Given the description of an element on the screen output the (x, y) to click on. 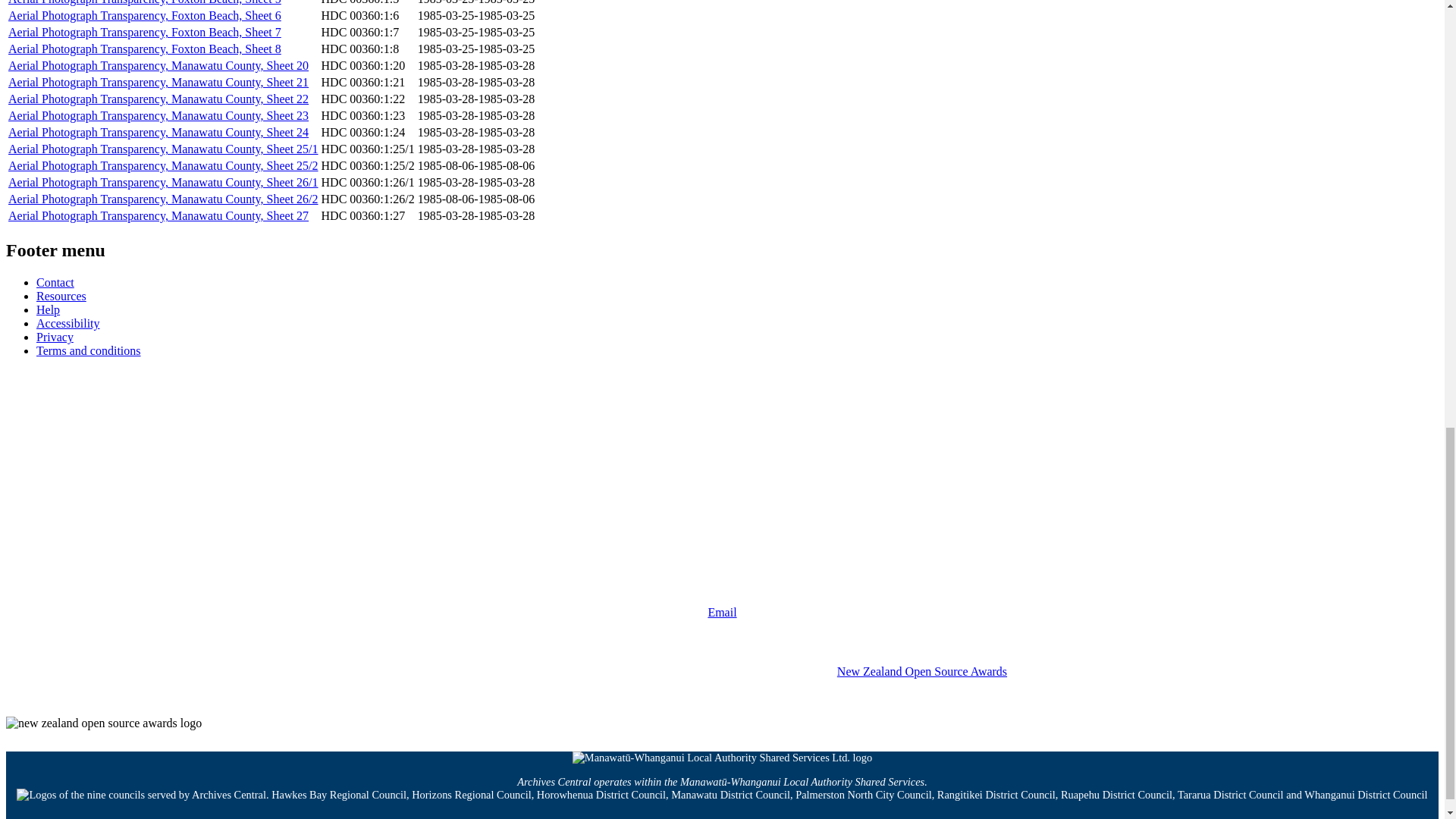
Aerial Photograph Transparency, Foxton Beach, Sheet 7 (144, 31)
Aerial Photograph Transparency, Manawatu County, Sheet 27 (158, 215)
Aerial Photograph Transparency, Manawatu County, Sheet 23 (158, 115)
Aerial Photograph Transparency, Foxton Beach, Sheet 6 (144, 15)
Resources (60, 295)
Aerial Photograph Transparency, Manawatu County, Sheet 21 (158, 82)
Aerial Photograph Transparency, Manawatu County, Sheet 20 (158, 65)
Aerial Photograph Transparency, Manawatu County, Sheet 22 (158, 98)
Aerial Photograph Transparency, Foxton Beach, Sheet 8 (144, 48)
Aerial Photograph Transparency, Manawatu County, Sheet 24 (158, 132)
Contact (55, 282)
Aerial Photograph Transparency, Foxton Beach, Sheet 5 (144, 2)
